Given the description of an element on the screen output the (x, y) to click on. 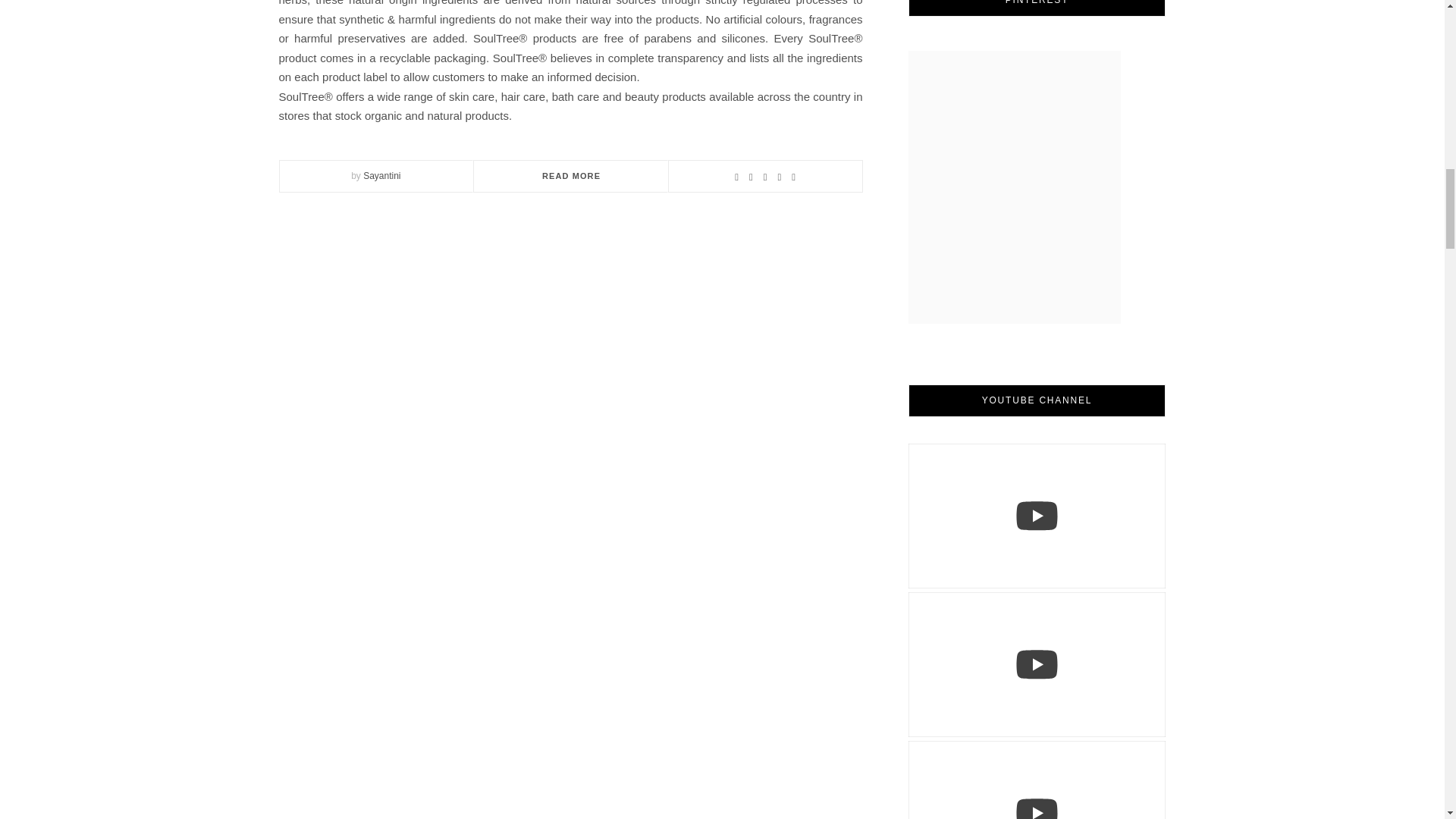
READ MORE (570, 175)
Posts by Sayantini (381, 175)
Sayantini (381, 175)
